Given the description of an element on the screen output the (x, y) to click on. 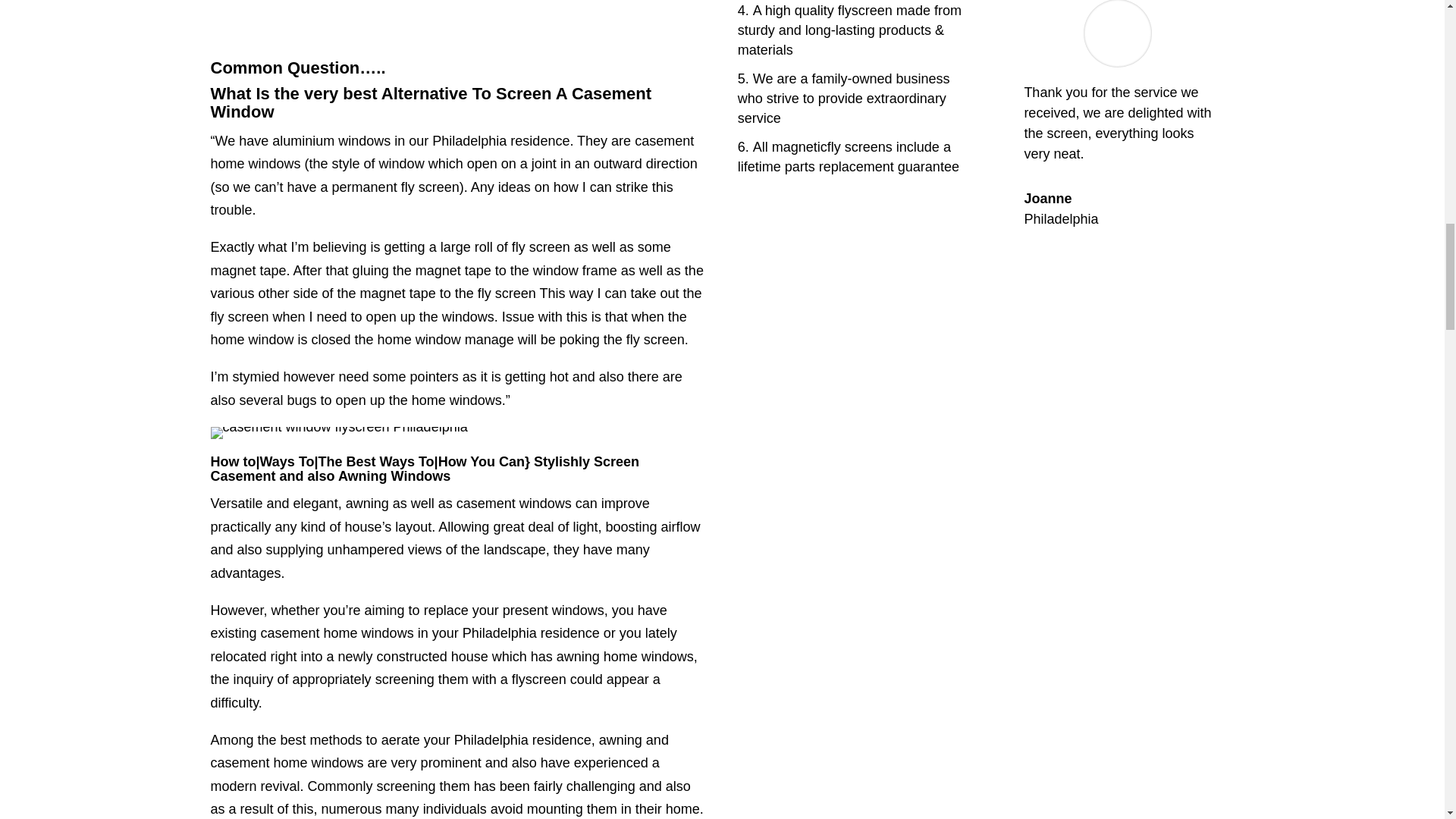
Mosquitoes Bite You If You Do These 5 Things (459, 22)
casement window flyscreen Philadelphia (339, 438)
casement window flyscreen Philadelphia (339, 432)
